Given the description of an element on the screen output the (x, y) to click on. 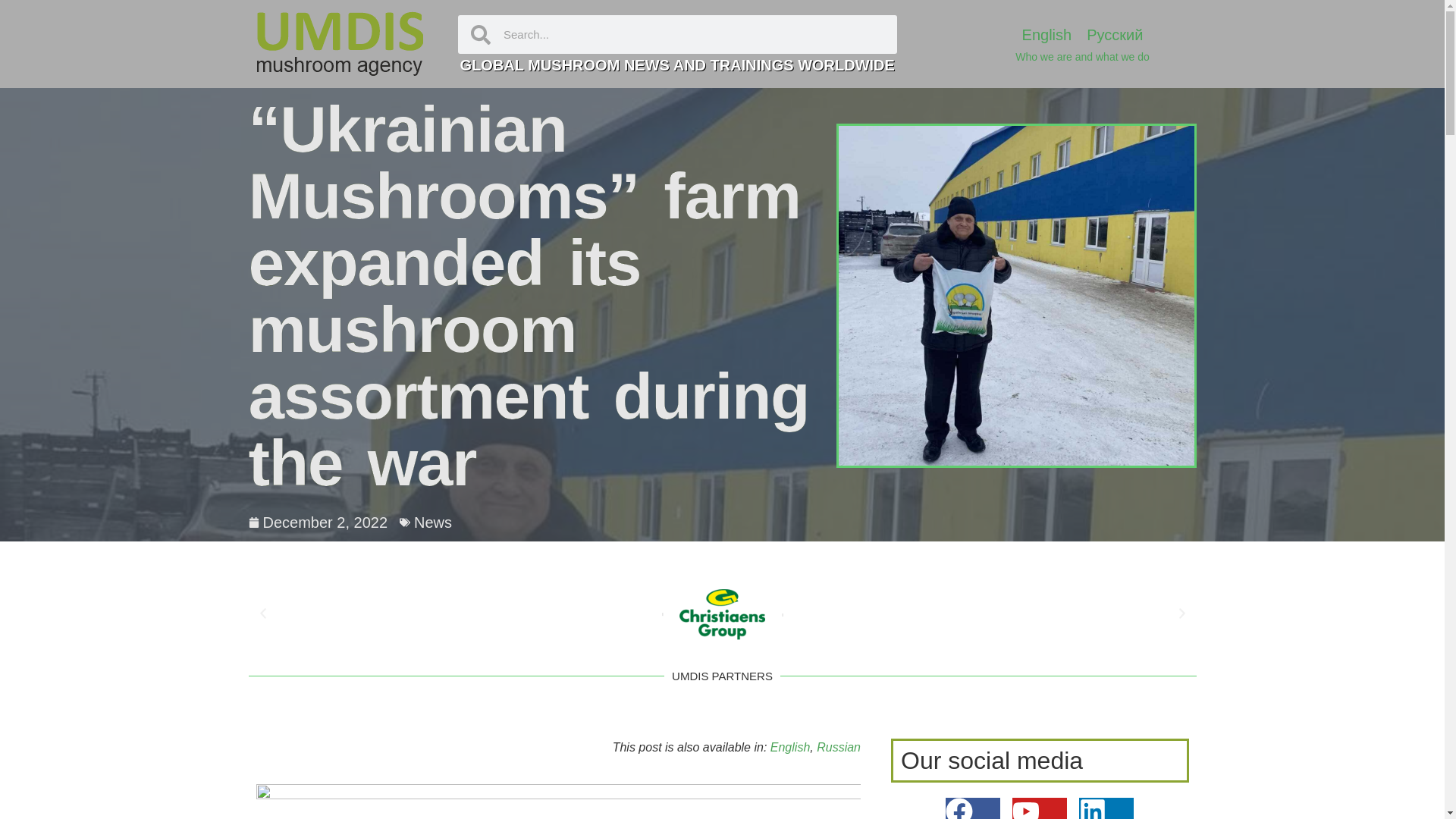
News (432, 522)
English (1047, 34)
English (789, 747)
Who we are and what we do (1082, 56)
Russian (838, 747)
